Given the description of an element on the screen output the (x, y) to click on. 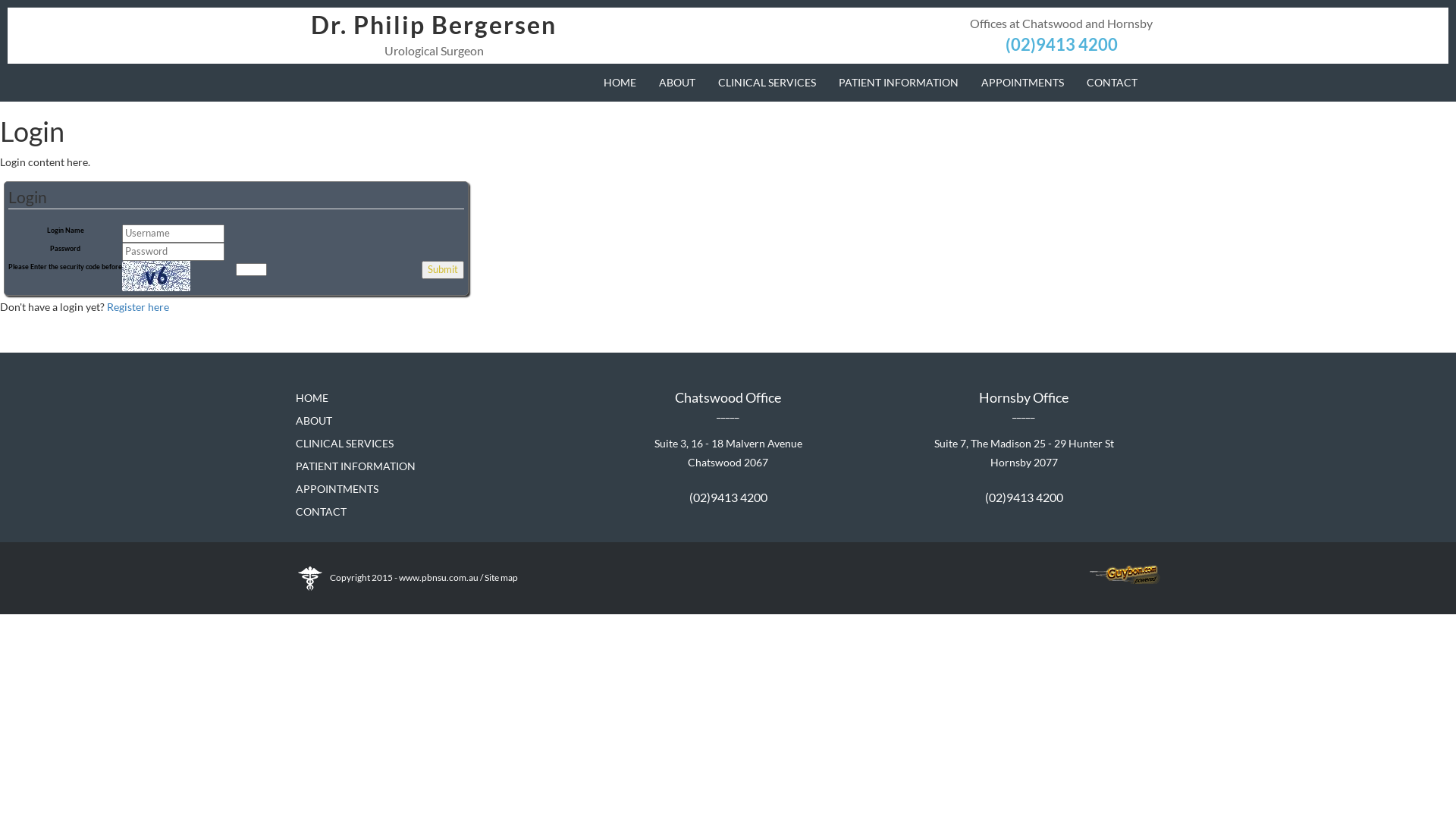
Submit Element type: text (442, 269)
CONTACT Element type: text (1111, 82)
Dr. Philip Bergersen
Urological Surgeon Element type: text (433, 33)
CLINICAL SERVICES Element type: text (766, 82)
ABOUT Element type: text (313, 420)
PATIENT INFORMATION Element type: text (355, 465)
CONTACT Element type: text (320, 511)
APPOINTMENTS Element type: text (1022, 82)
CLINICAL SERVICES Element type: text (344, 442)
PATIENT INFORMATION Element type: text (898, 82)
Register here Element type: text (137, 306)
HOME Element type: text (619, 82)
Site map Element type: text (500, 576)
ABOUT Element type: text (676, 82)
APPOINTMENTS Element type: text (336, 488)
HOME Element type: text (311, 397)
